Given the description of an element on the screen output the (x, y) to click on. 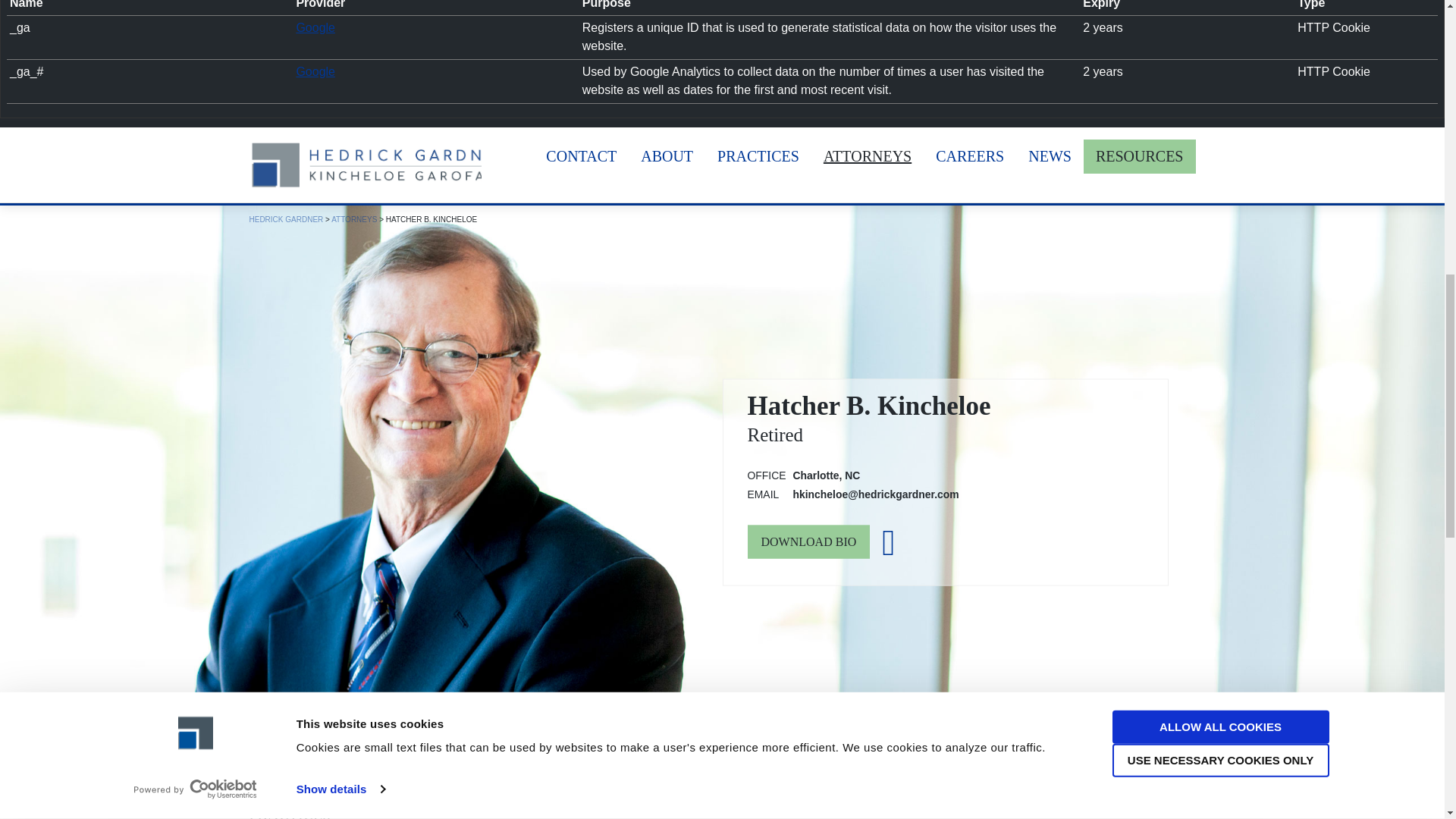
Google's privacy policy (314, 27)
Google (314, 27)
Go to Attorneys. (354, 219)
Google's privacy policy (314, 71)
Google (314, 71)
Go to Hedrick Gardner. (285, 219)
